Given the description of an element on the screen output the (x, y) to click on. 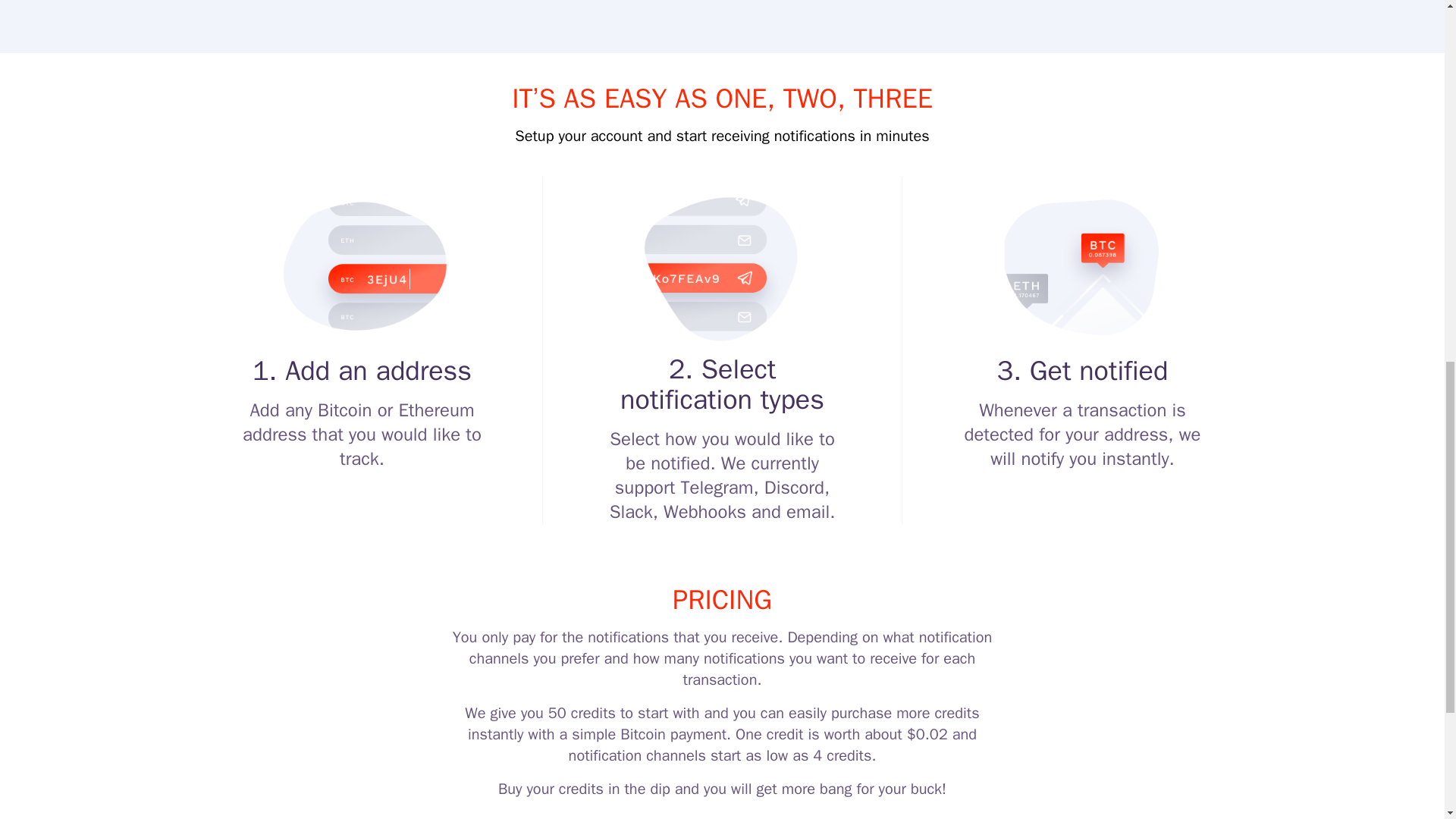
Slack (631, 511)
Discord (794, 486)
Telegram (717, 486)
